Given the description of an element on the screen output the (x, y) to click on. 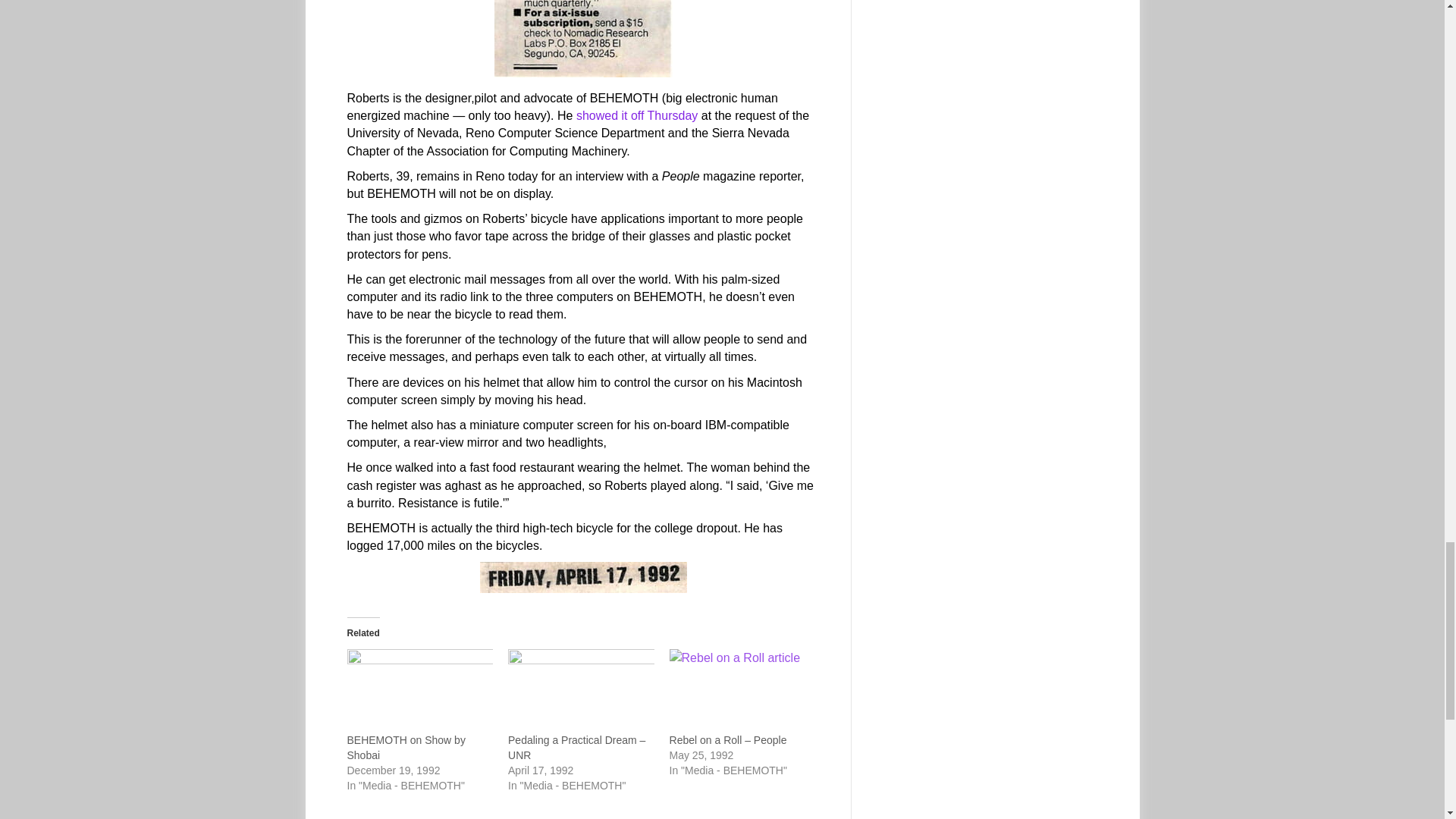
BEHEMOTH on Show by Shobai (420, 690)
Mighty Bike - 2 (583, 38)
Reno Gazette date (583, 576)
BEHEMOTH on Show by Shobai (406, 747)
